Given the description of an element on the screen output the (x, y) to click on. 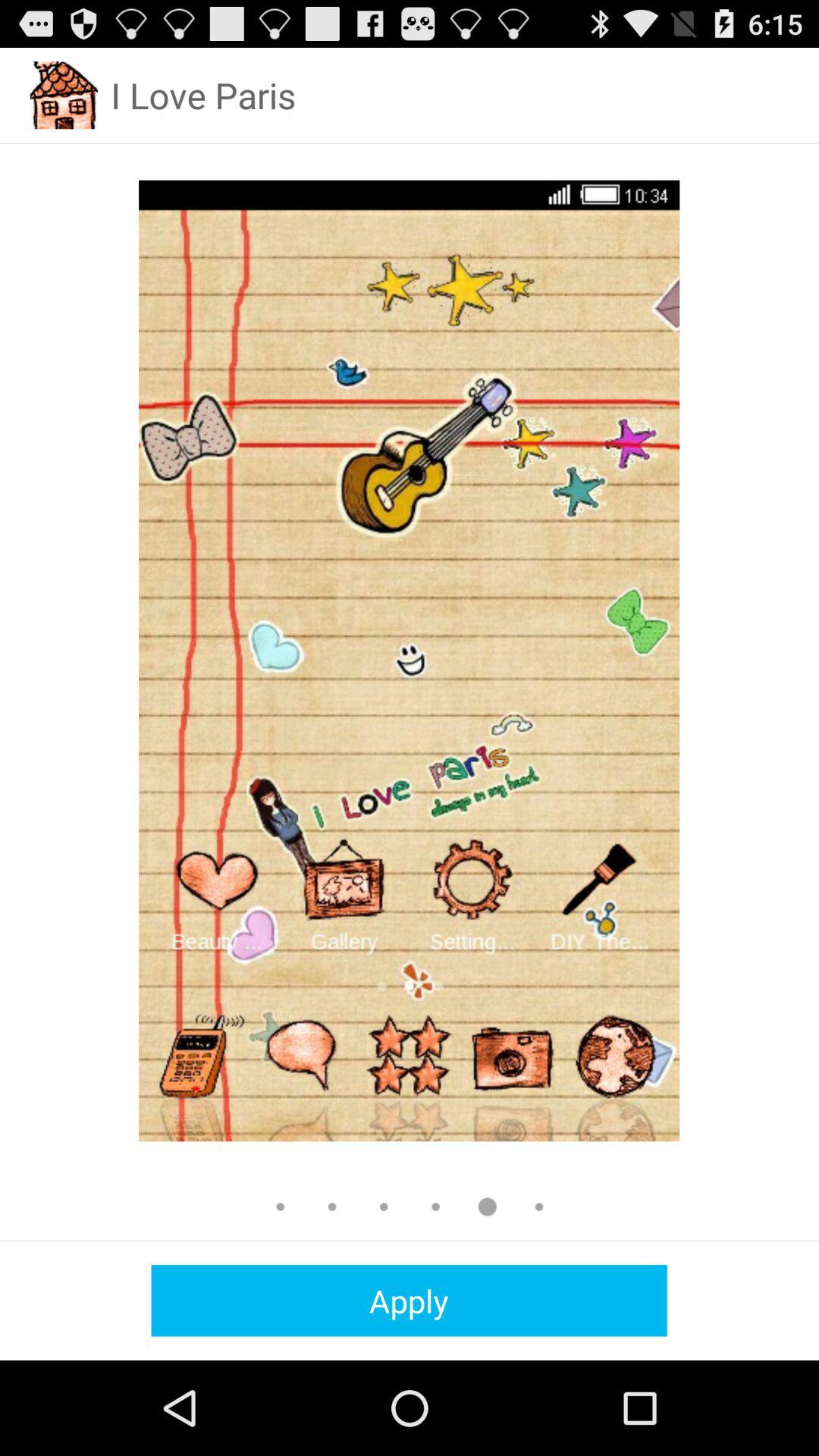
launch apply (409, 1300)
